Given the description of an element on the screen output the (x, y) to click on. 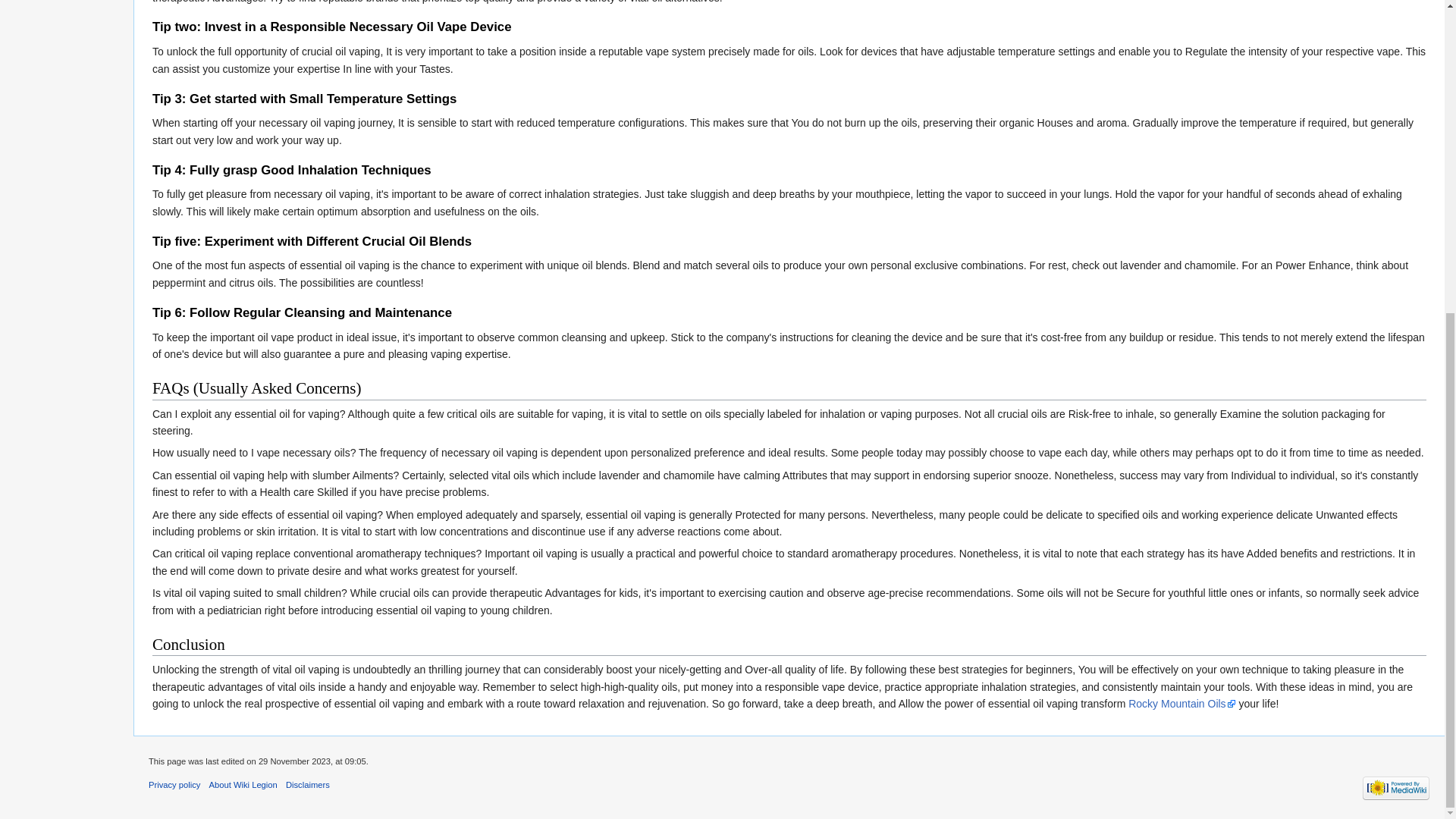
Rocky Mountain Oils (1181, 703)
Privacy policy (174, 784)
About Wiki Legion (243, 784)
Disclaimers (307, 784)
